Given the description of an element on the screen output the (x, y) to click on. 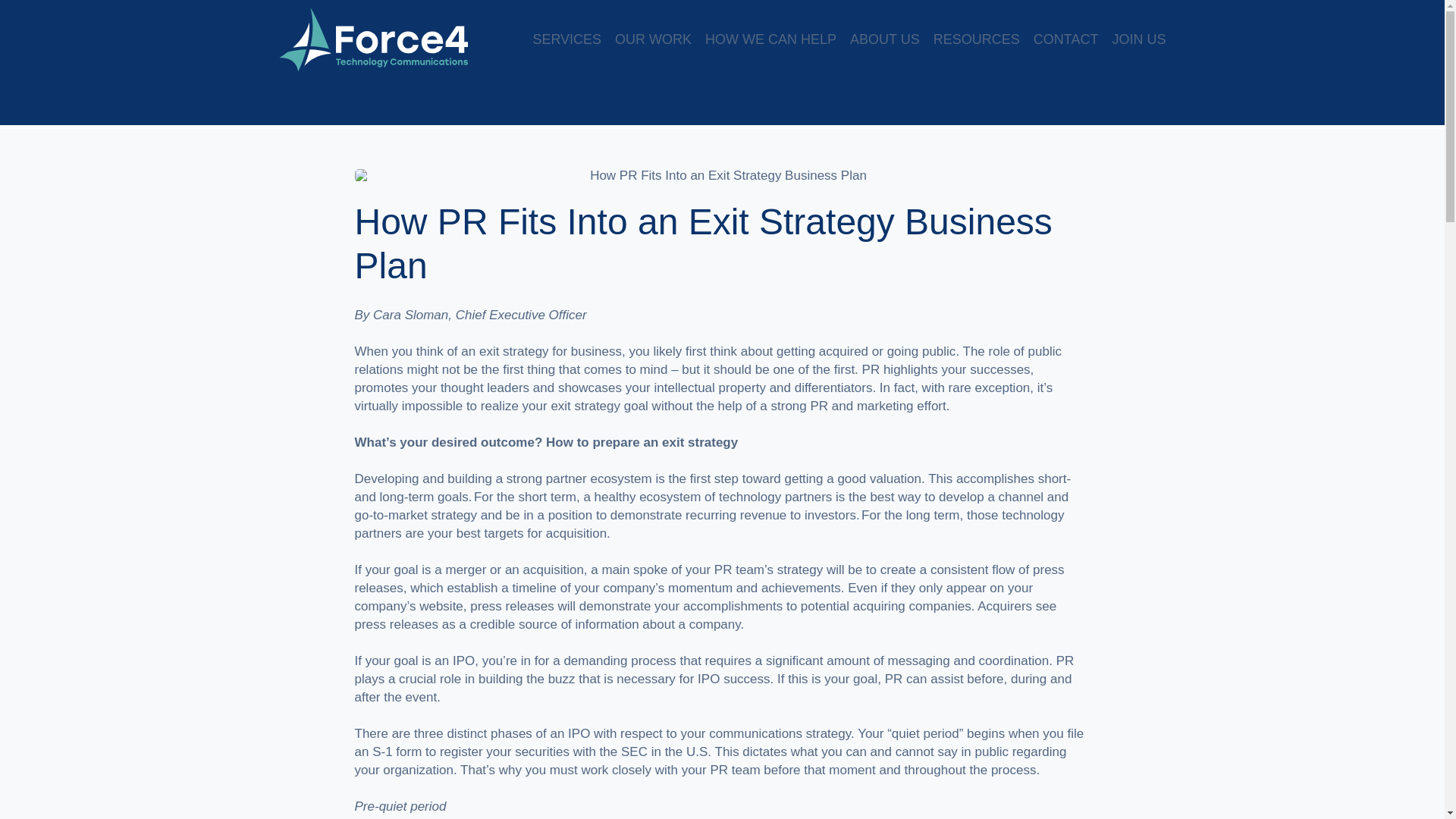
JOIN US (1139, 39)
ABOUT US (885, 39)
HOW WE CAN HELP (769, 39)
SERVICES (566, 39)
OUR WORK (652, 39)
CONTACT (1066, 39)
RESOURCES (976, 39)
